Given the description of an element on the screen output the (x, y) to click on. 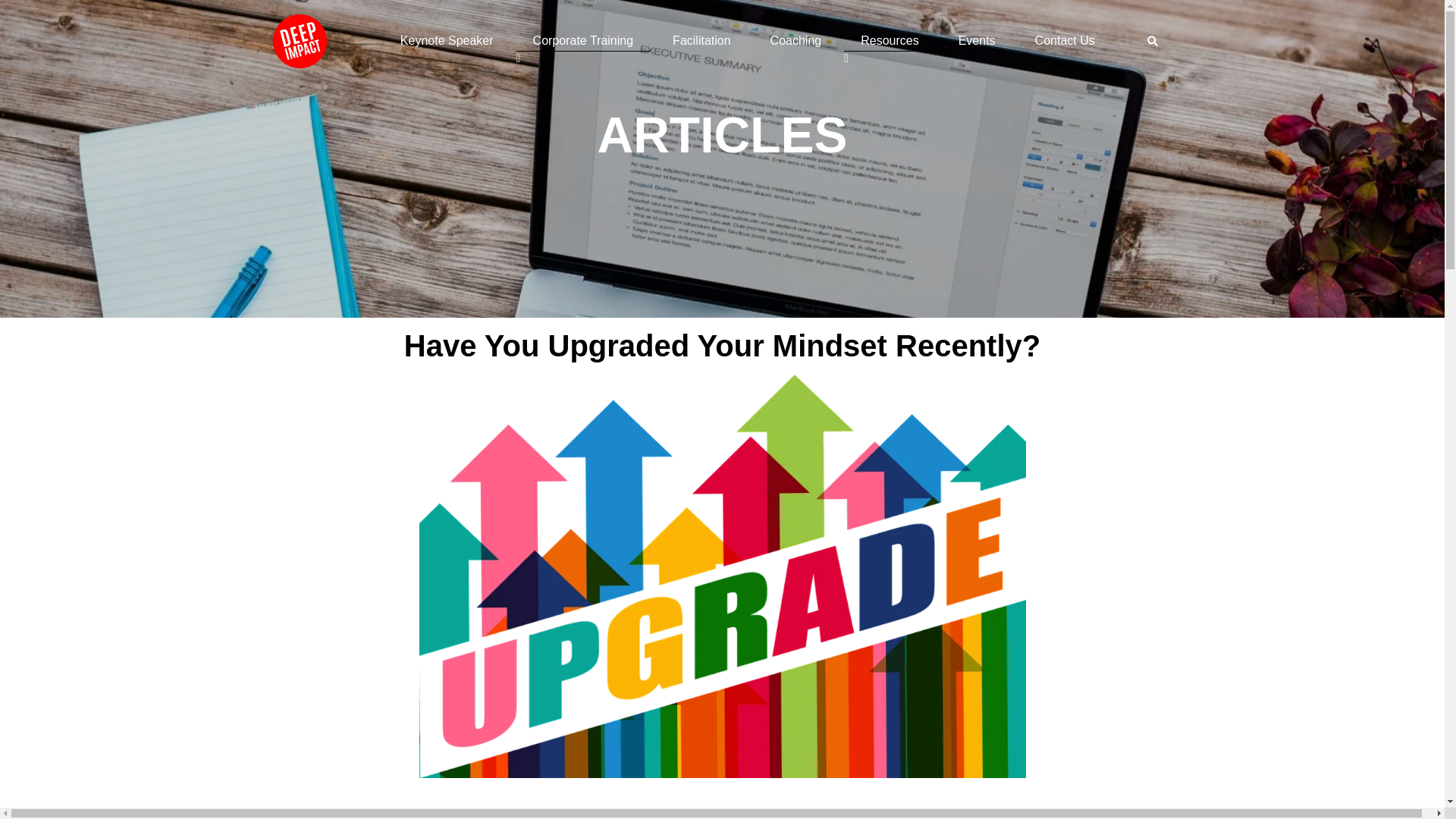
Contact Us (1064, 40)
Events (976, 40)
Resources (889, 40)
Coaching (796, 40)
Facilitation (701, 40)
Corporate Training (583, 40)
Keynote Speaker (447, 40)
